Given the description of an element on the screen output the (x, y) to click on. 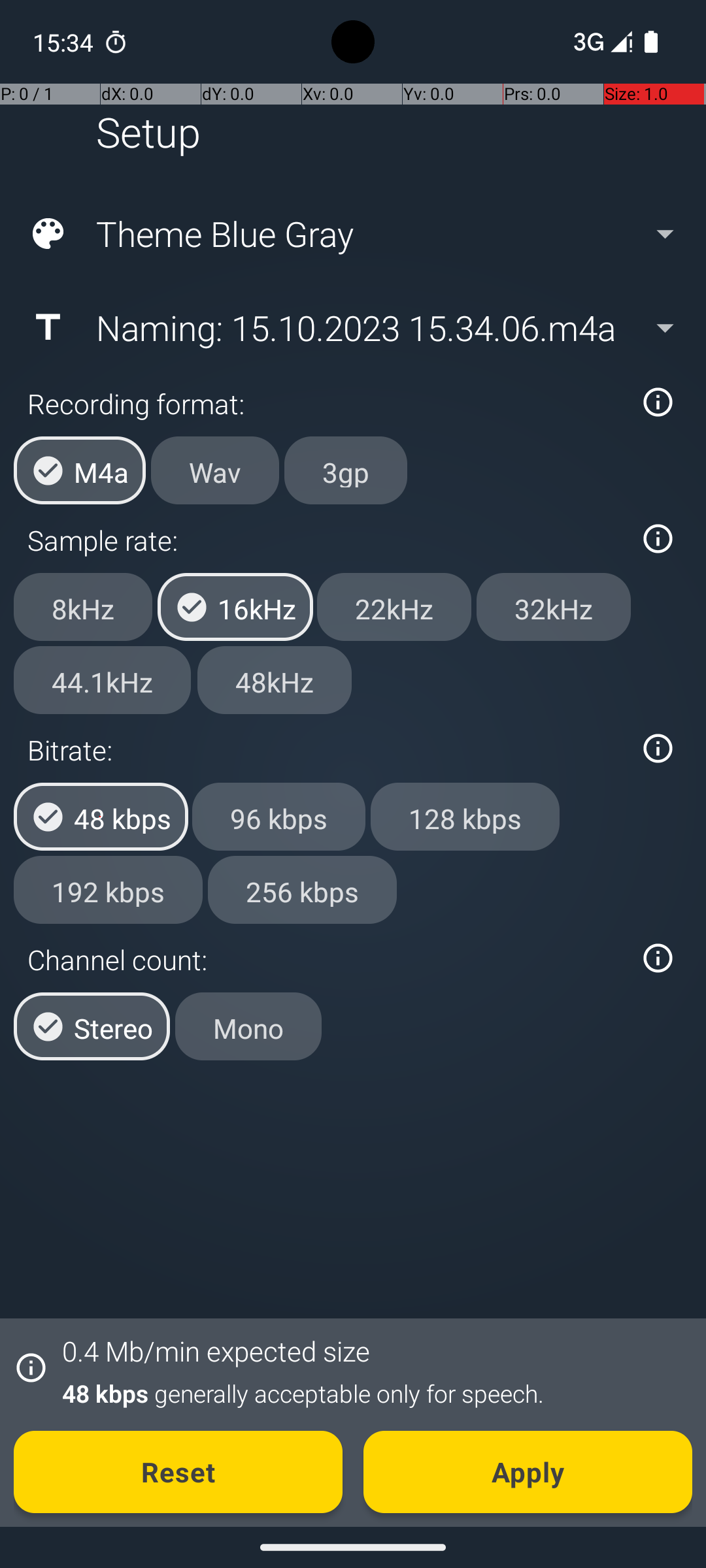
0.4 Mb/min expected size Element type: android.widget.TextView (215, 1350)
48 kbps generally acceptable only for speech. Element type: android.widget.TextView (370, 1392)
Naming: 15.10.2023 15.34.06.m4a Element type: android.widget.TextView (352, 327)
